Given the description of an element on the screen output the (x, y) to click on. 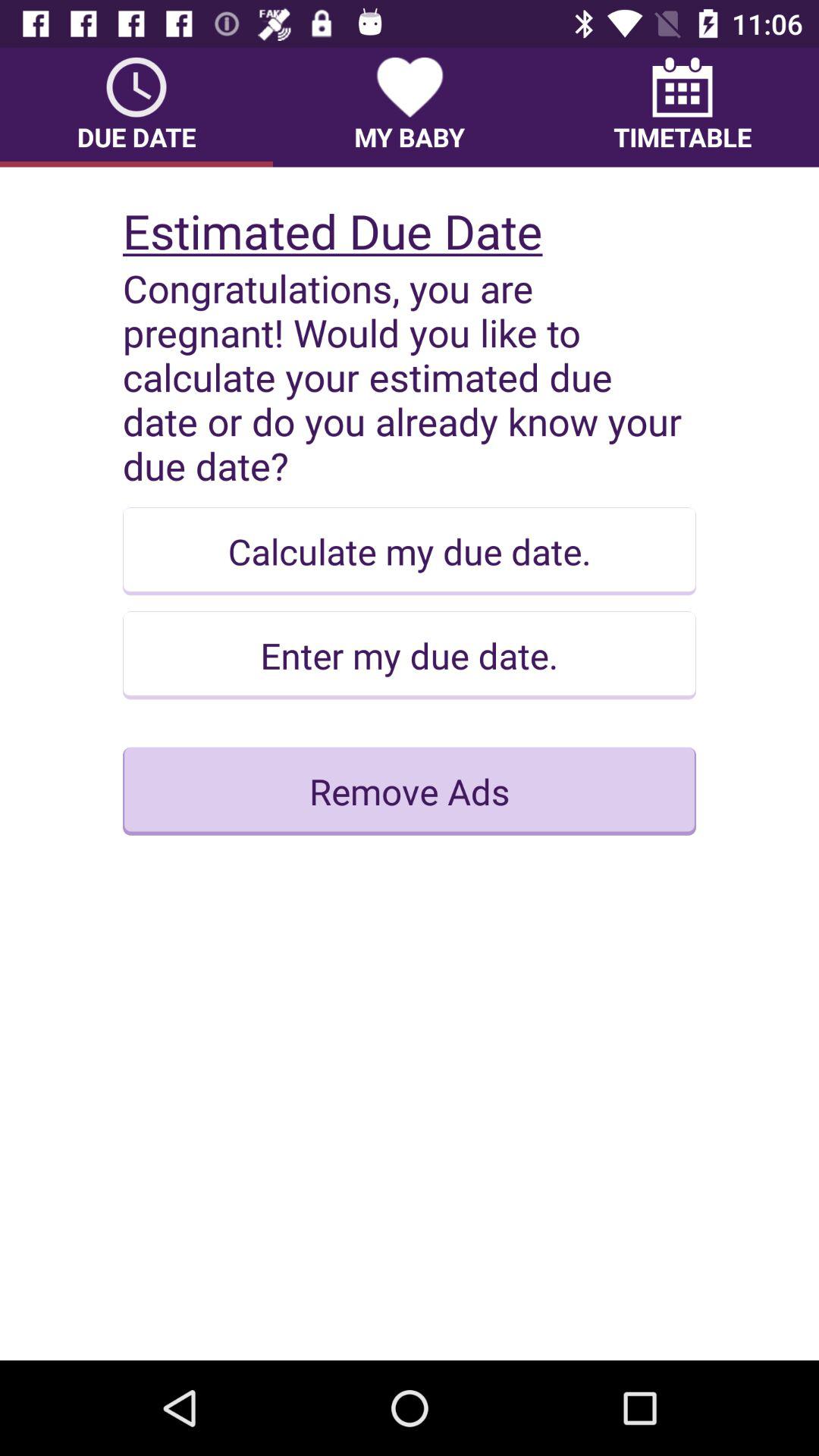
select the item next to timetable (409, 107)
